Given the description of an element on the screen output the (x, y) to click on. 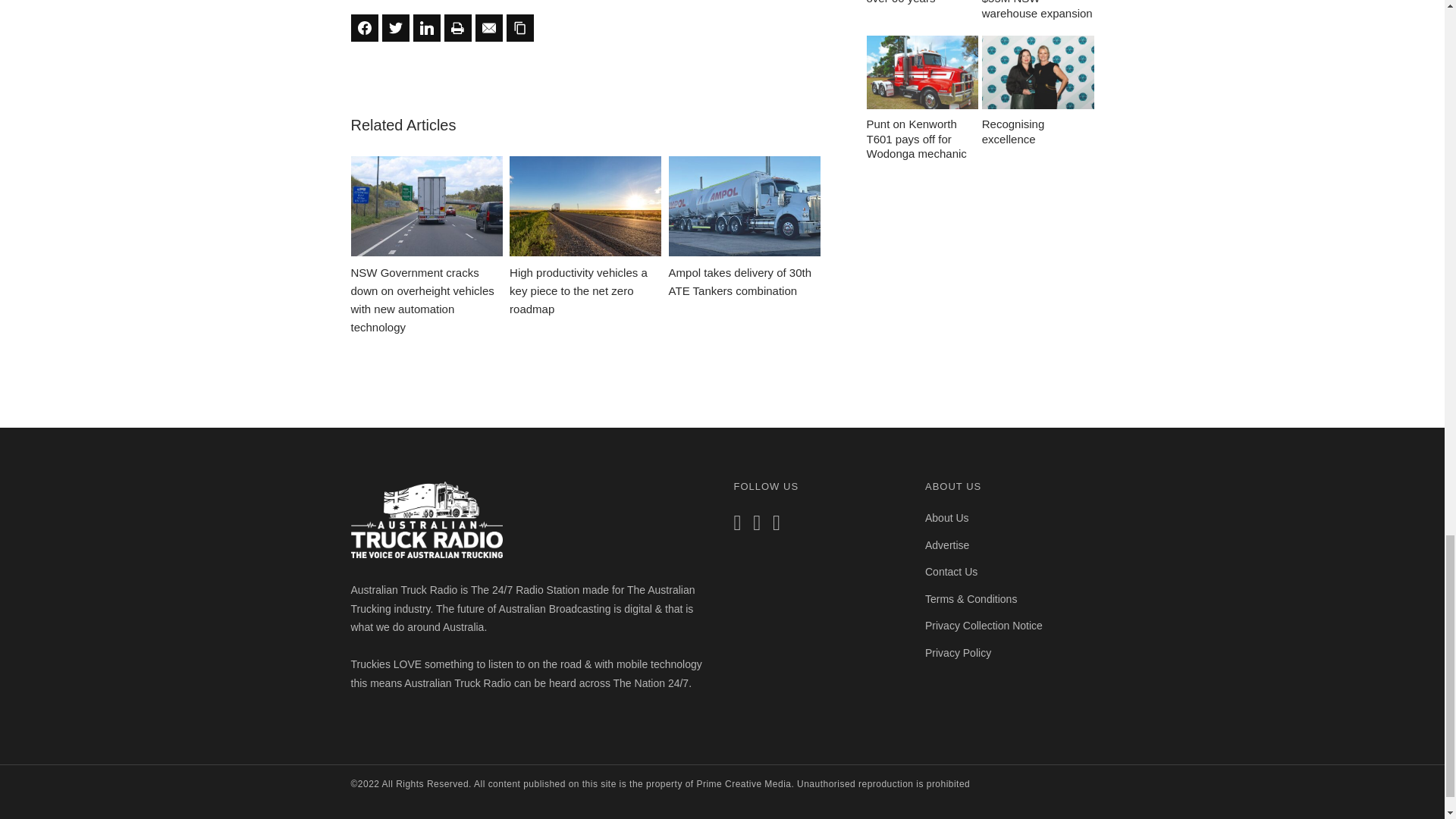
Share on Email (488, 27)
Share on Twitter (395, 27)
Share on Print (457, 27)
Share on Facebook (363, 27)
Share on LinkedIn (425, 27)
Ampol takes delivery of 30th ATE Tankers combination (744, 228)
Share on Copy Link (520, 27)
